Given the description of an element on the screen output the (x, y) to click on. 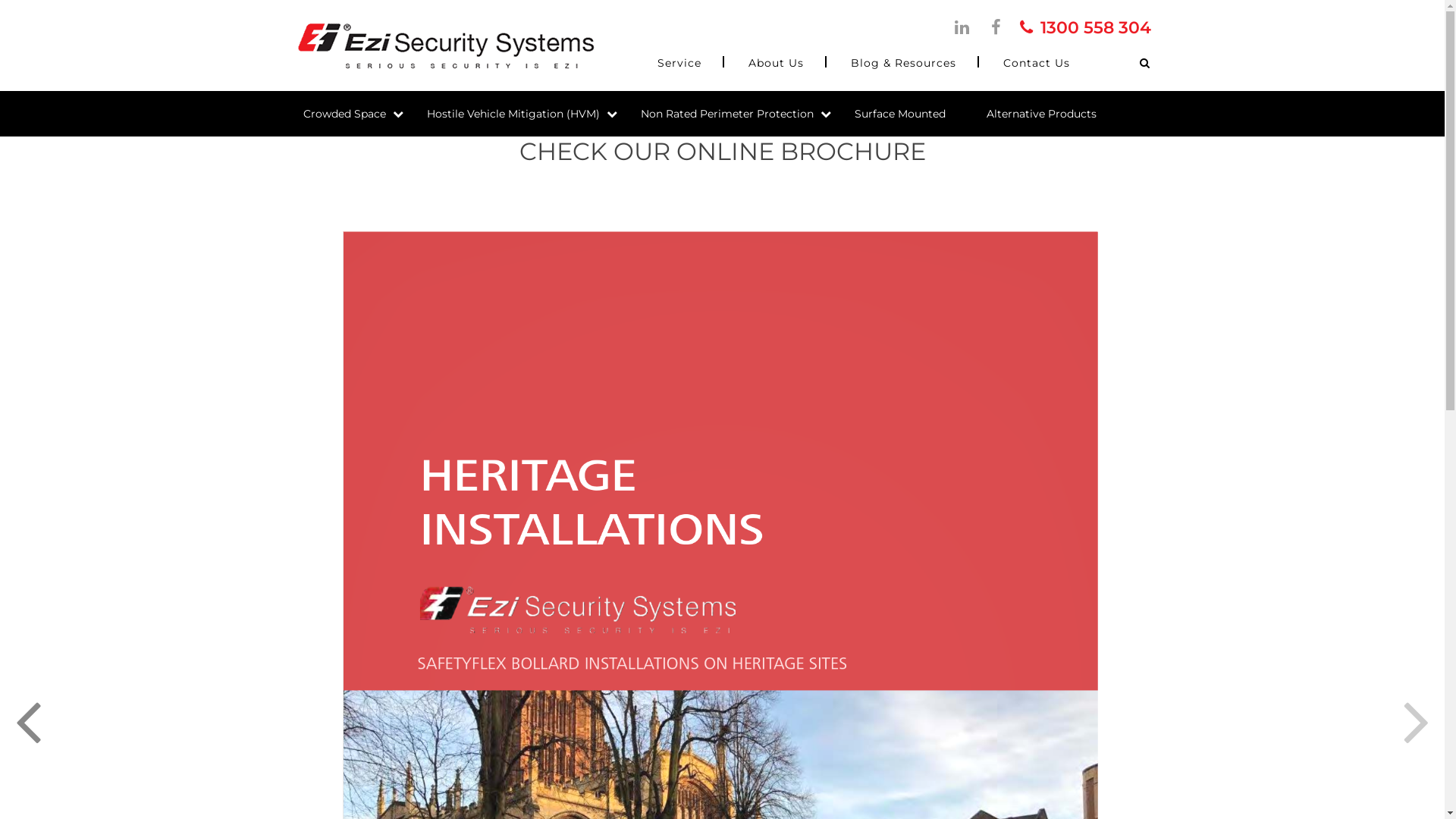
Contact Us Element type: text (1035, 62)
1300 558 304 Element type: text (1084, 27)
Blog & Resources Element type: text (903, 62)
Alternative Products Element type: text (1050, 113)
About Us Element type: text (775, 62)
Search Element type: hover (1132, 62)
Non Rated Perimeter Protection Element type: text (735, 113)
Hostile Vehicle Mitigation (HVM) Element type: text (522, 113)
Crowded Space Element type: text (354, 113)
Surface Mounted Element type: text (908, 113)
Service Element type: text (678, 62)
